Given the description of an element on the screen output the (x, y) to click on. 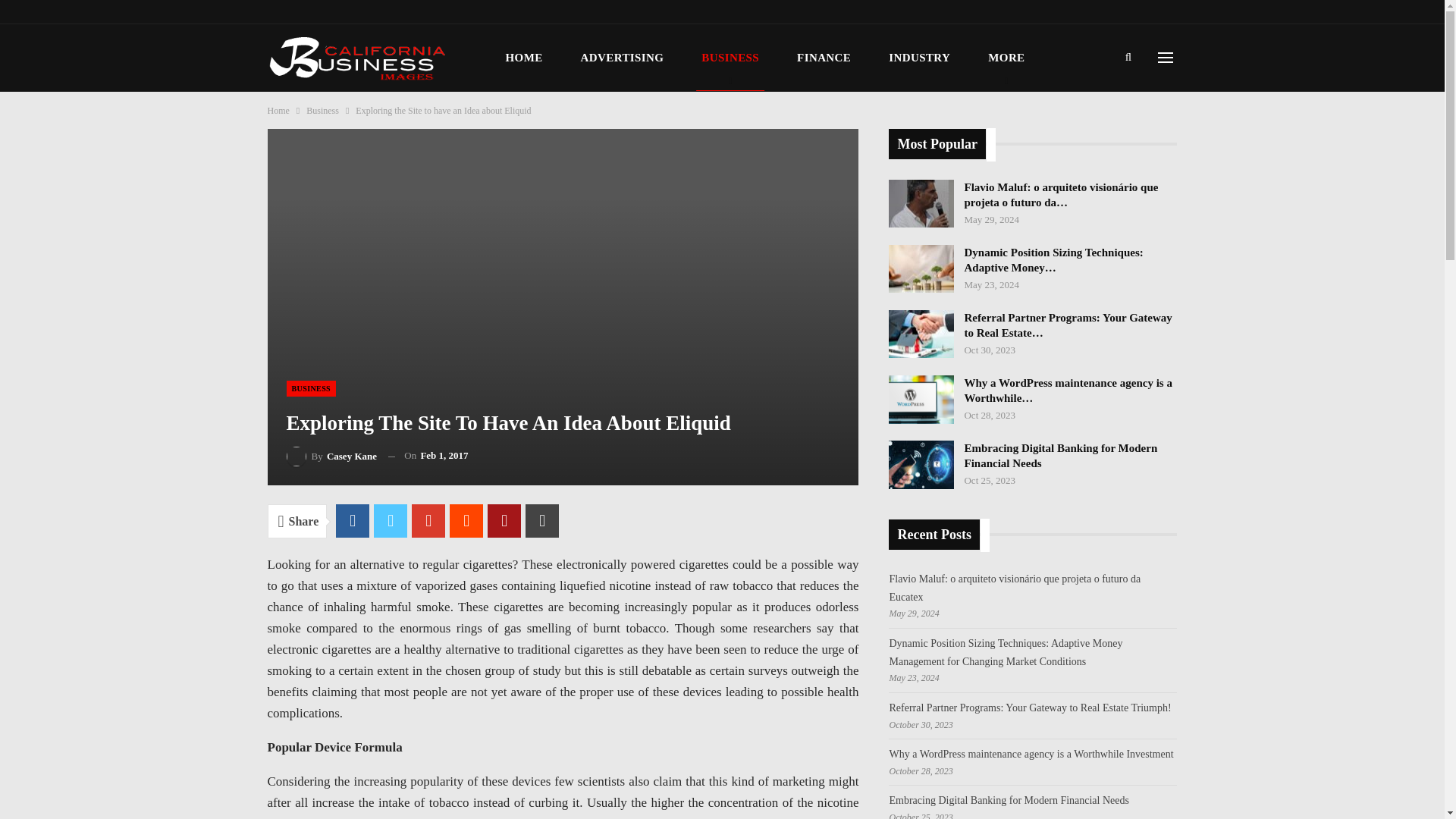
MORE (1005, 57)
ADVERTISING (622, 57)
Browse Author Articles (331, 455)
INDUSTRY (919, 57)
FINANCE (824, 57)
BUSINESS (311, 388)
HOME (524, 57)
Business (322, 110)
BUSINESS (729, 57)
By Casey Kane (331, 455)
Home (277, 110)
